Given the description of an element on the screen output the (x, y) to click on. 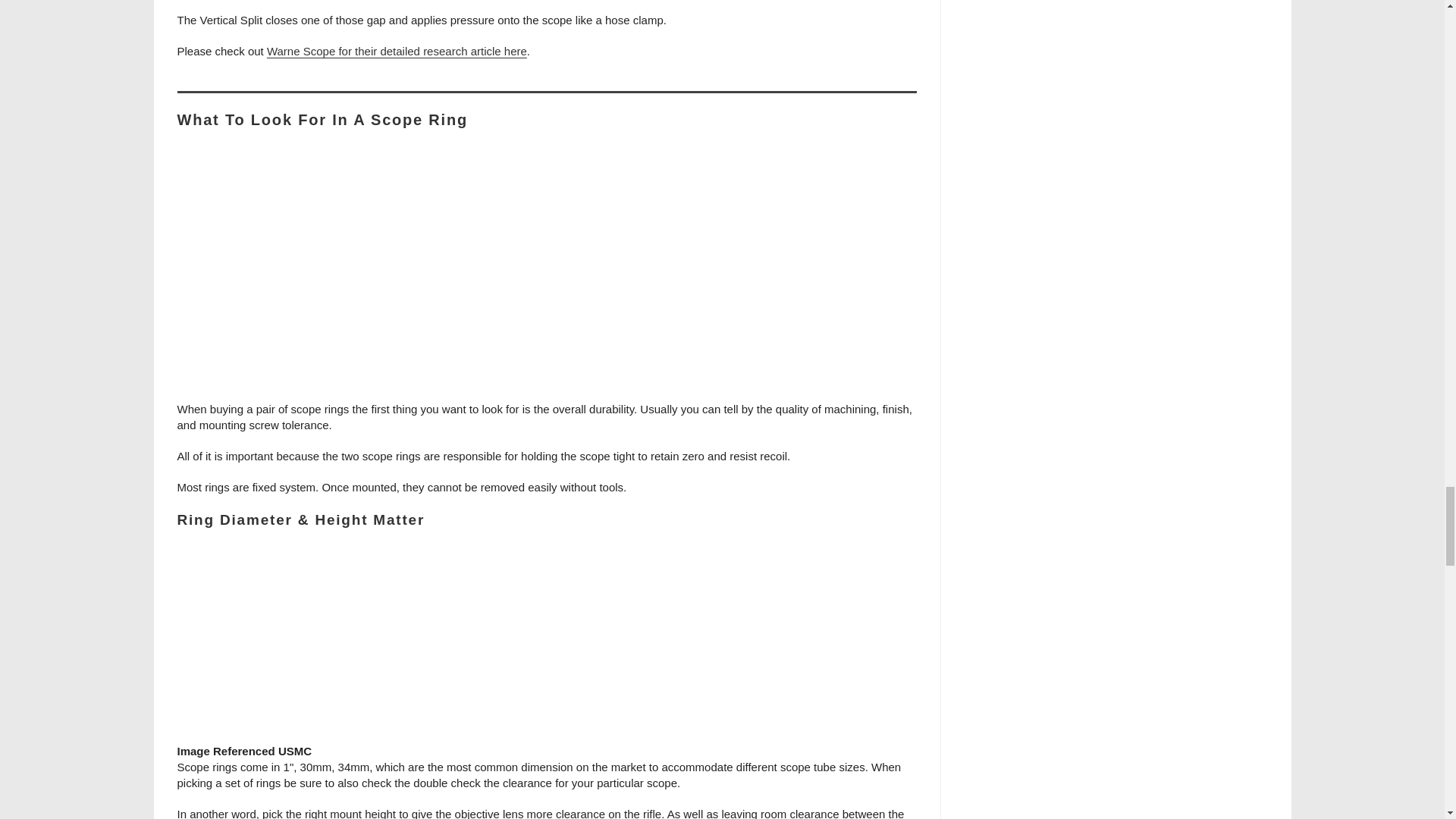
Best 30mm Scope Rings For The Money 4 (546, 644)
